Given the description of an element on the screen output the (x, y) to click on. 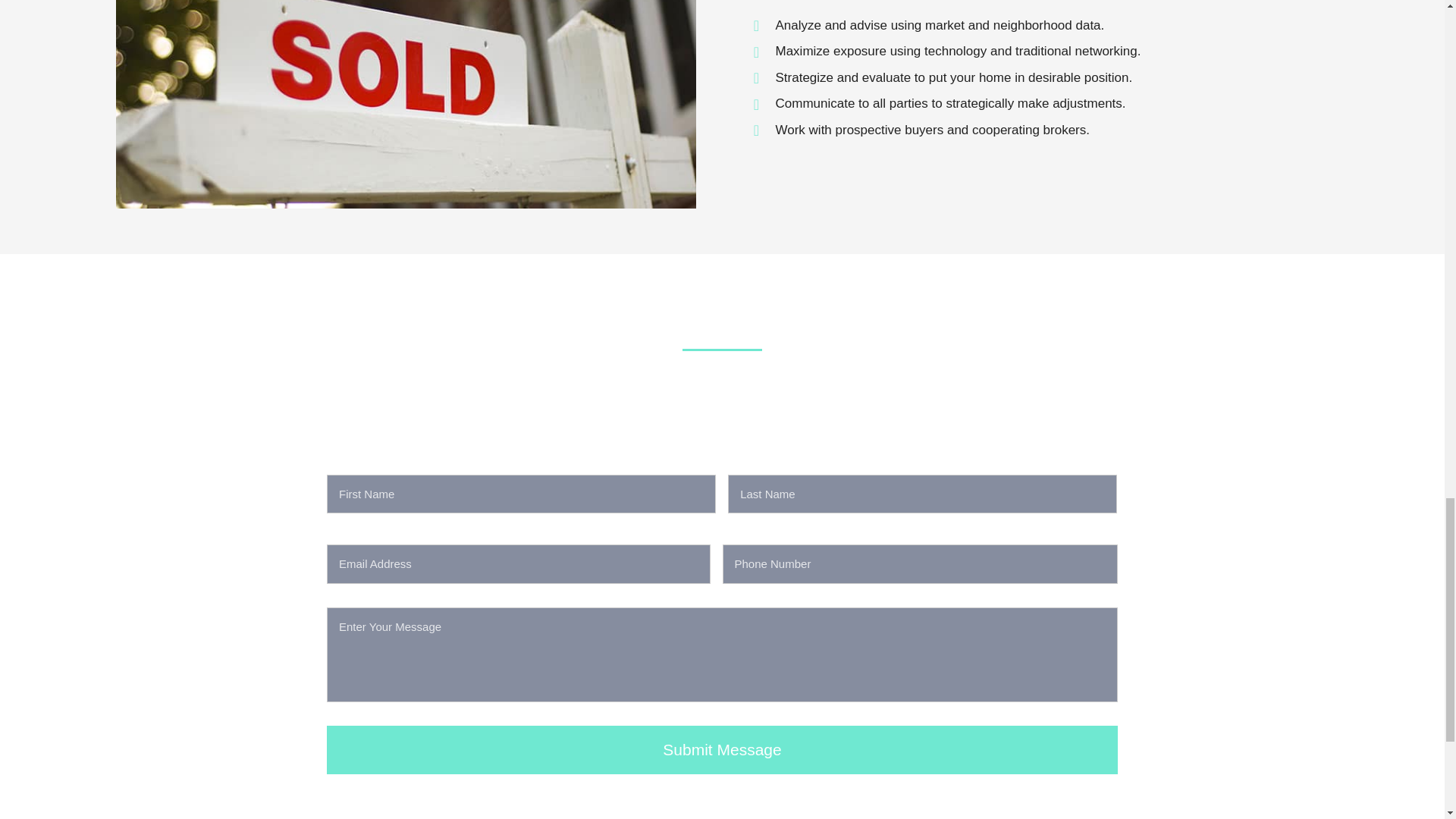
page-image-7 (405, 104)
Submit Message (722, 751)
Submit Message (722, 751)
